Given the description of an element on the screen output the (x, y) to click on. 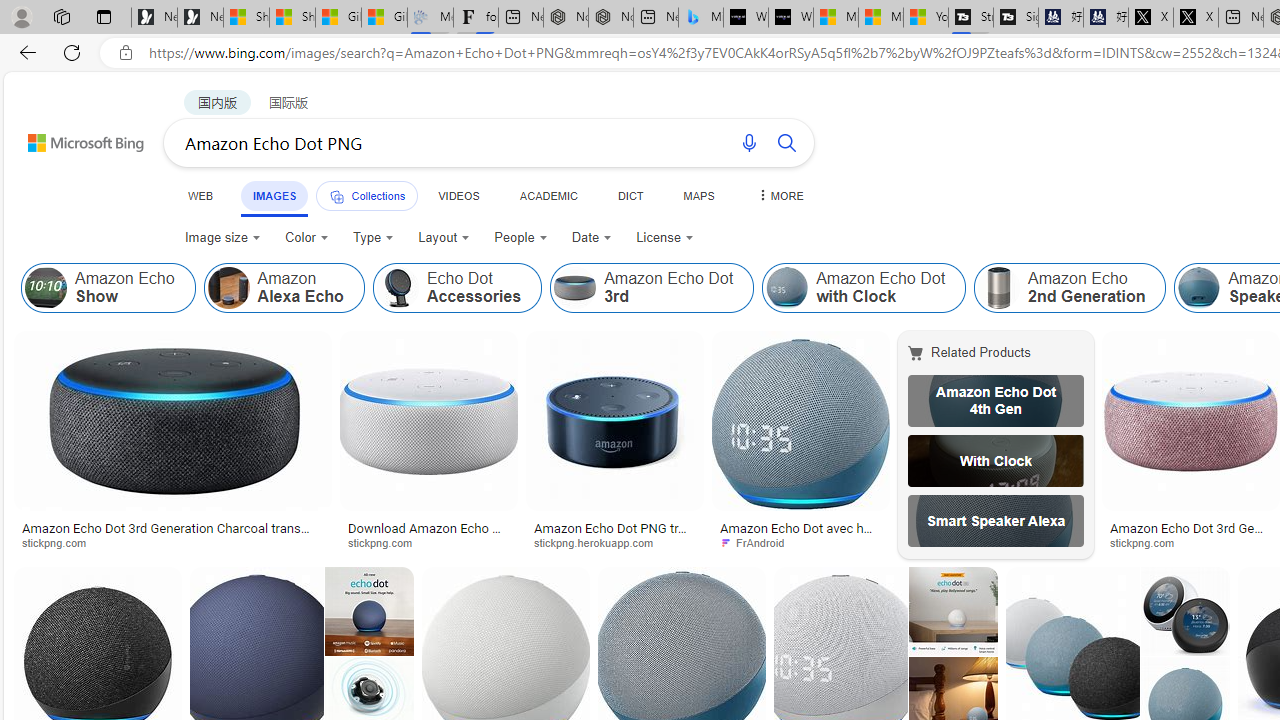
Back to Bing search (73, 138)
MAPS (698, 195)
Echo Dot Accessories (397, 287)
Amazon Echo Dot 4th Gen (995, 400)
Amazon Echo Speaker (1199, 287)
Image size (222, 237)
Dropdown Menu (779, 195)
Search button (786, 142)
MORE (779, 195)
License (665, 237)
License (664, 237)
